Given the description of an element on the screen output the (x, y) to click on. 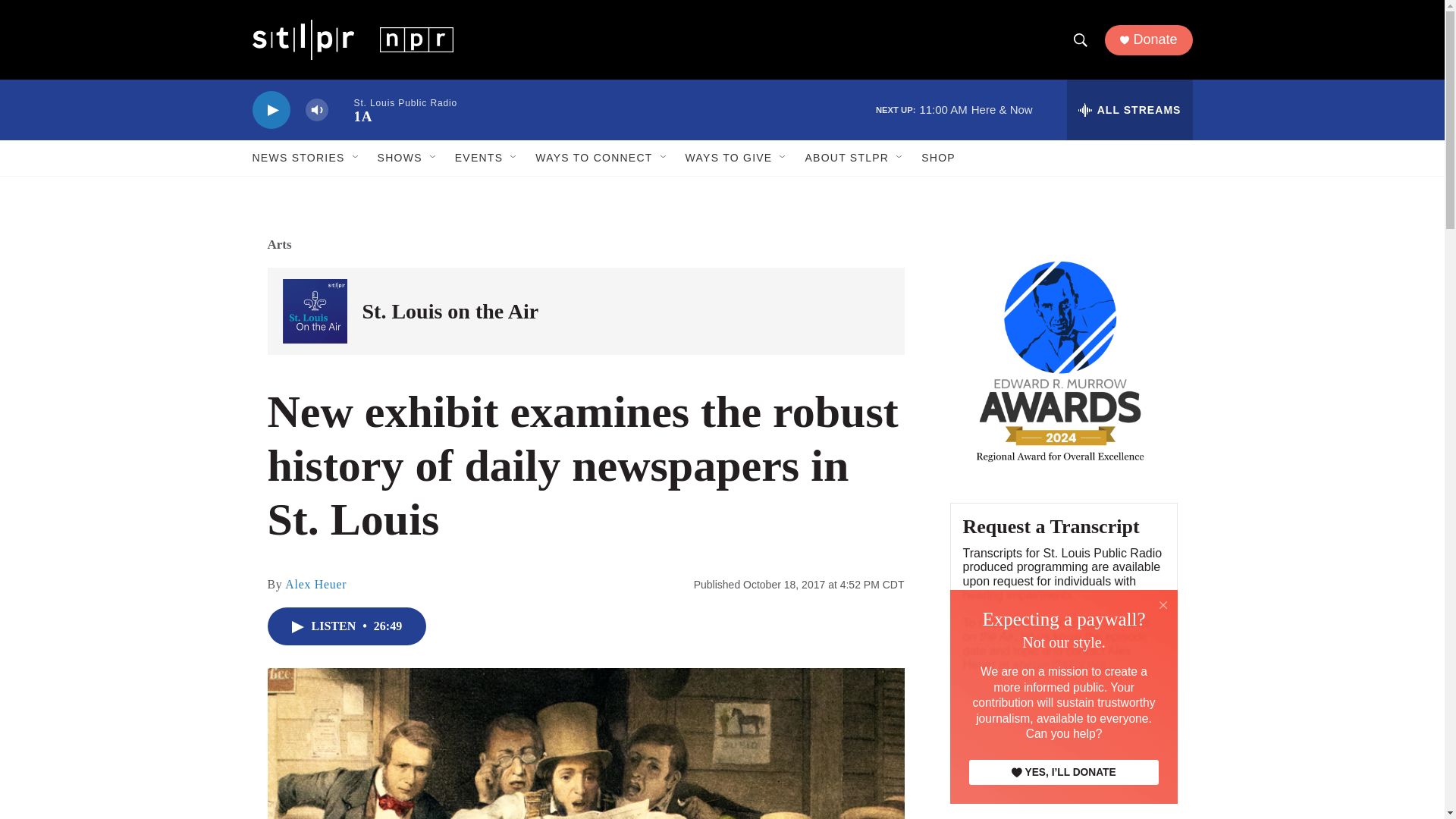
Close (1162, 604)
3rd party ad content (1062, 773)
Close (1162, 605)
